Given the description of an element on the screen output the (x, y) to click on. 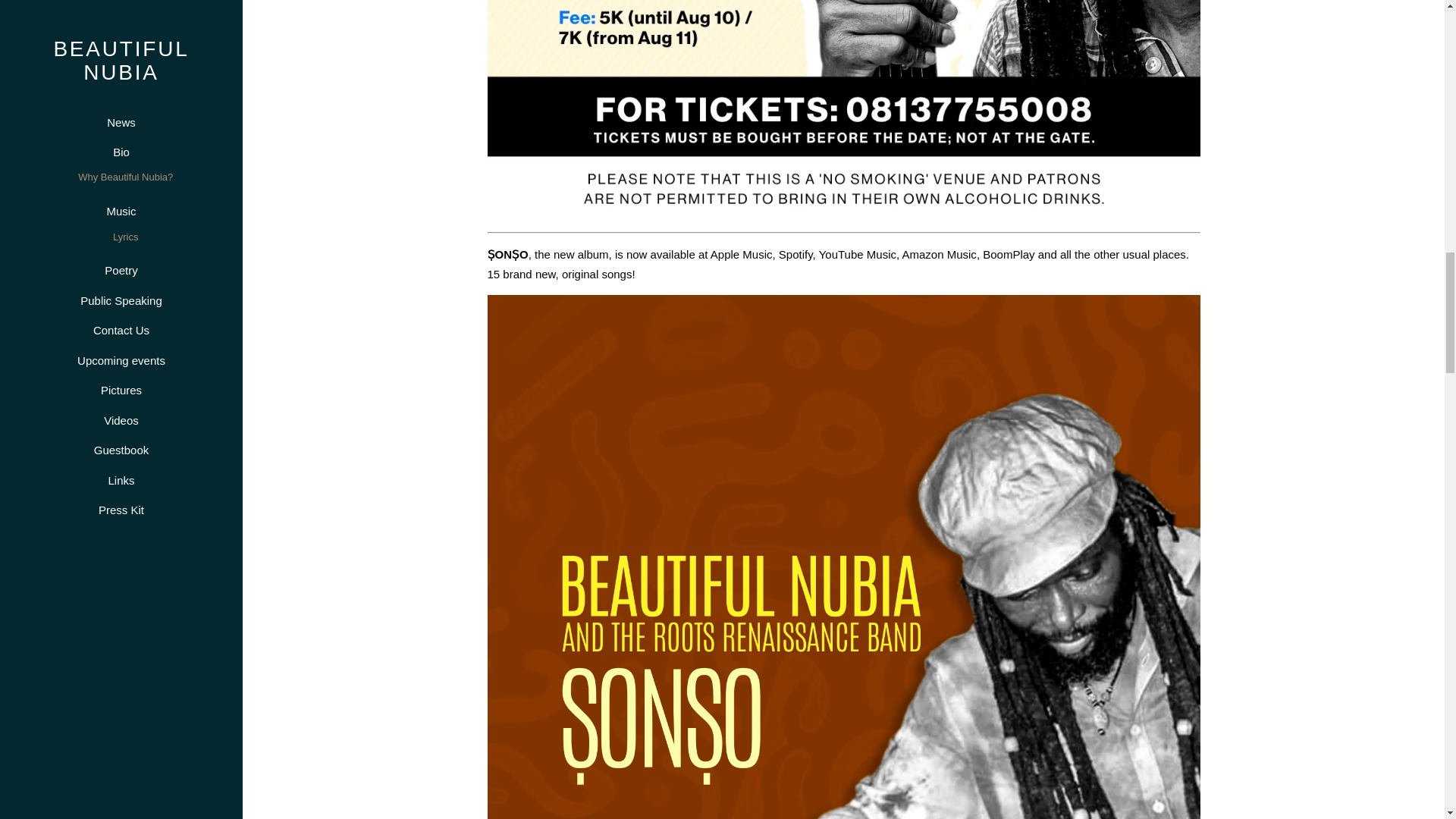
Amazon Music (939, 254)
Apple Music (741, 254)
Spotify (795, 254)
YouTube Music (857, 254)
